Given the description of an element on the screen output the (x, y) to click on. 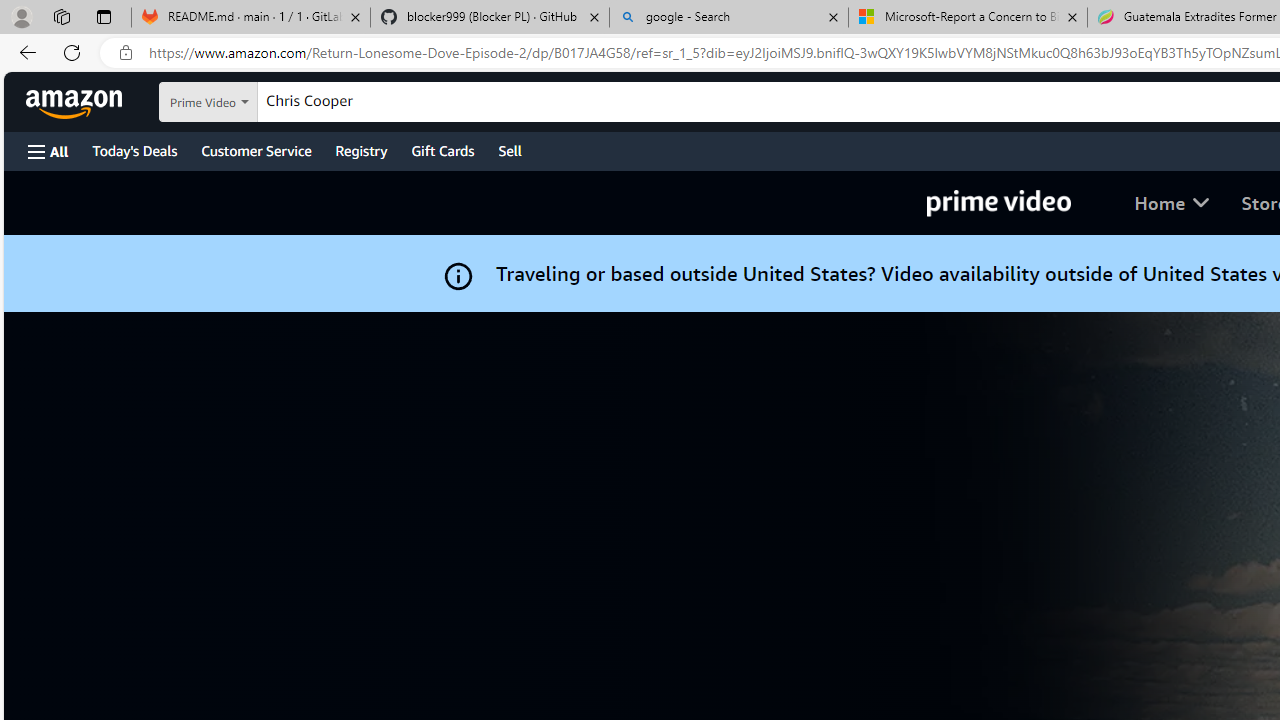
Home (1171, 202)
Sell (509, 150)
Microsoft-Report a Concern to Bing (967, 17)
Customer Service (256, 150)
Search in (259, 102)
google - Search (729, 17)
Today's Deals (134, 150)
